Given the description of an element on the screen output the (x, y) to click on. 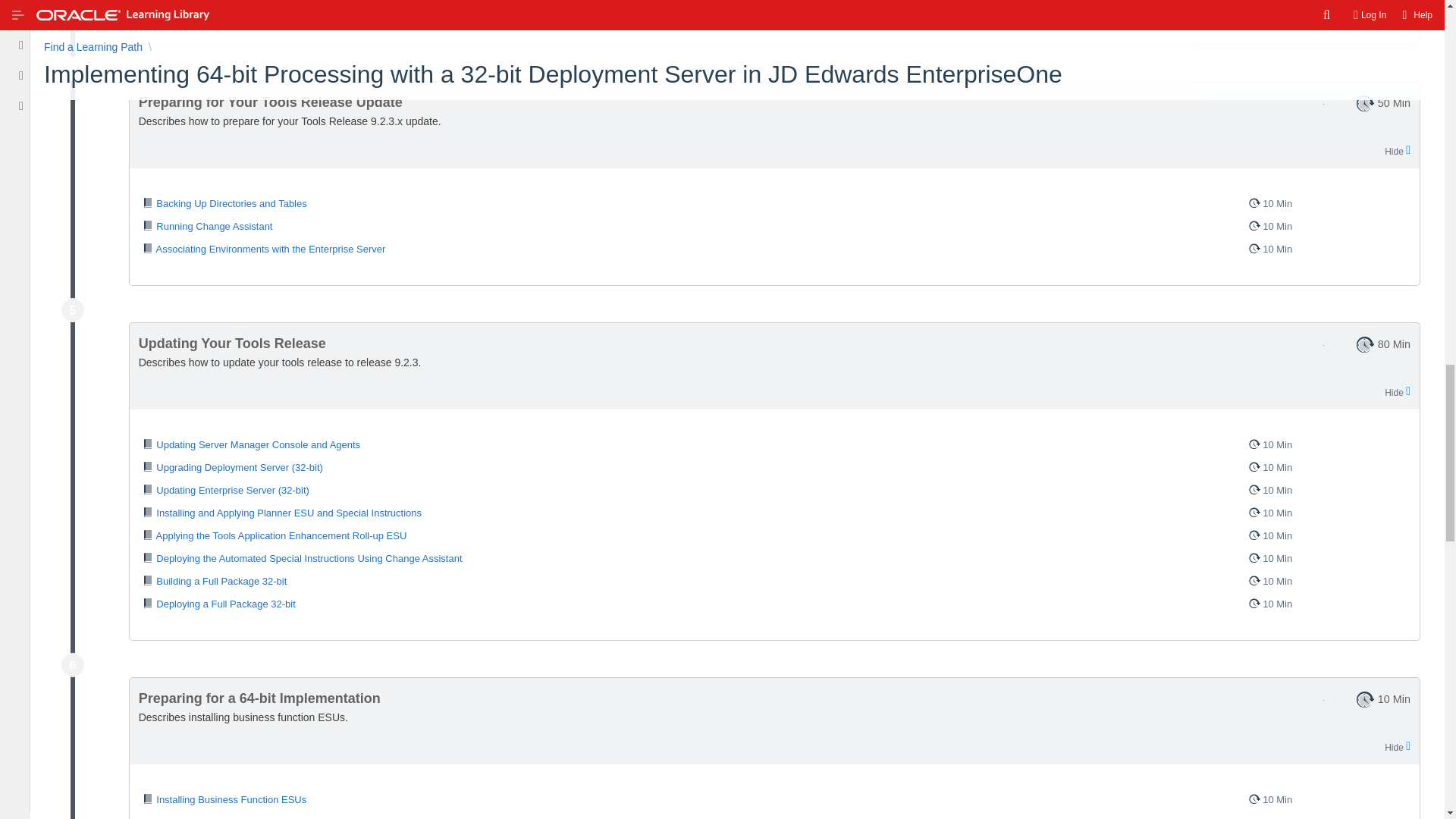
Running Change Assistant 10 Min (774, 226)
Deploying a Full Package 32-bit 10 Min (774, 603)
IBM i with DB2 for IBM i (194, 11)
Backing Up Directories and Tables 10 Min (774, 203)
Associating Environments with the Enterprise Server 10 Min (774, 249)
Building a Full Package 32-bit 10 Min (774, 581)
Installing Business Function ESUs 10 Min (774, 799)
Updating Server Manager Console and Agents 10 Min (774, 445)
